Given the description of an element on the screen output the (x, y) to click on. 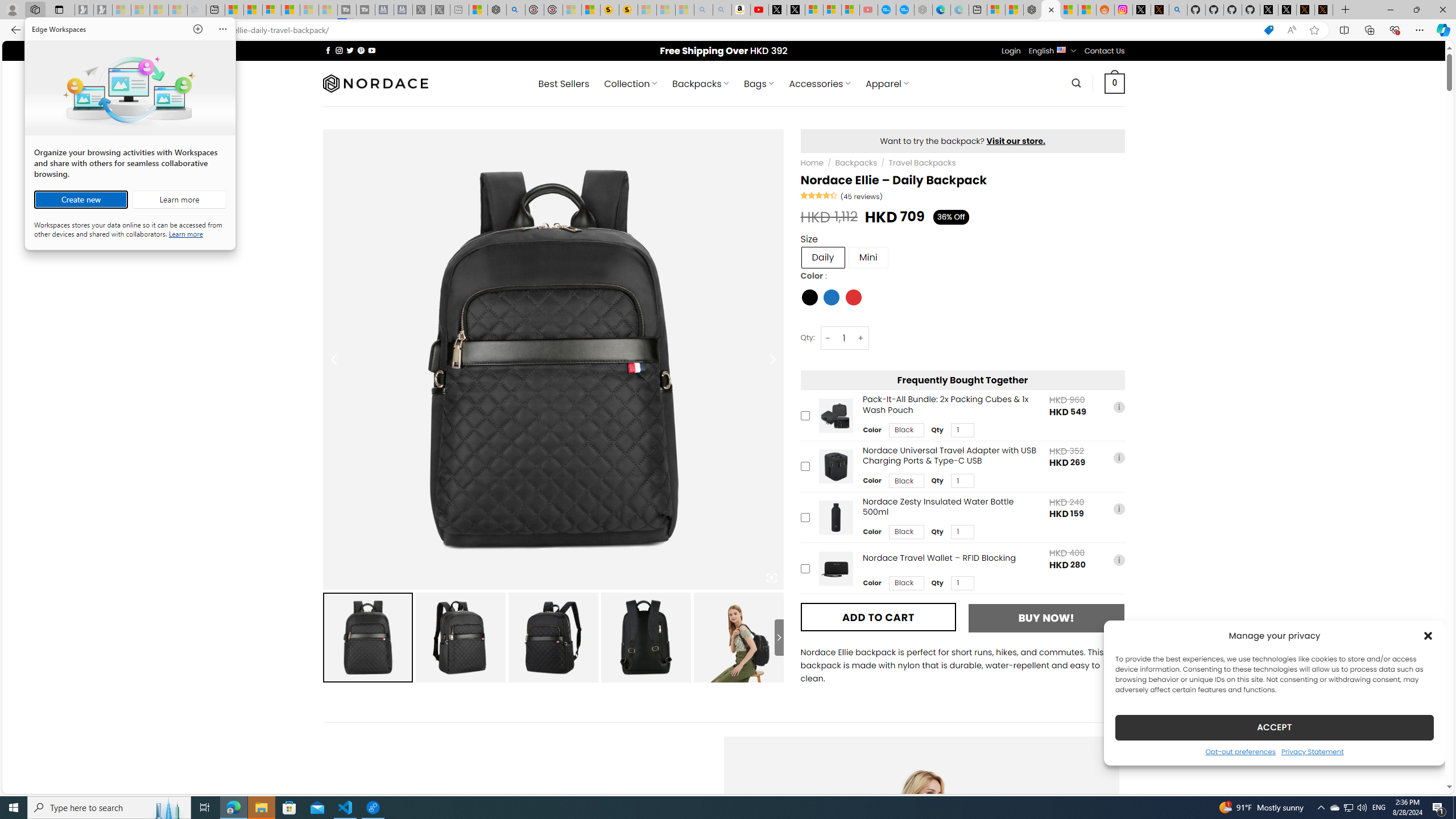
amazon - Search - Sleeping (702, 9)
Search highlights icon opens search home window (167, 807)
Pack-It-All Bundle: 2x Packing Cubes & 1x Wash Pouch (835, 415)
(45 reviews) (861, 196)
Create new workspace (80, 199)
Class: iconic-woothumbs-fullscreen (771, 577)
